Given the description of an element on the screen output the (x, y) to click on. 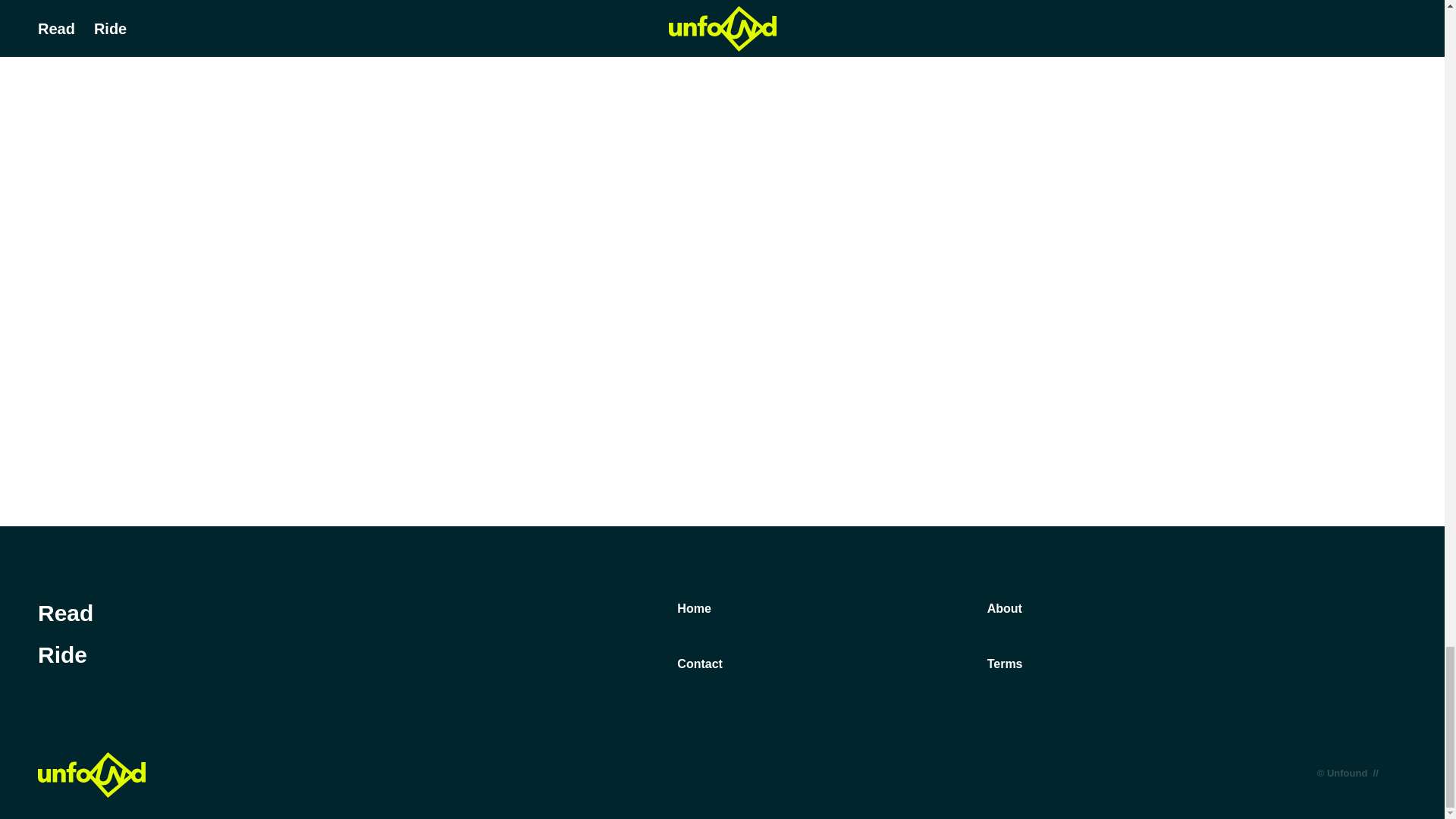
Terms (1005, 663)
Read (65, 612)
Unfound on Instagram (1353, 609)
About (1004, 608)
Contact (699, 663)
Base Media (1396, 771)
Unfound on Instagram (1353, 609)
Ride (62, 654)
Unfound on YouTube (1396, 609)
Unfound (91, 774)
Home (693, 608)
Unfound (91, 774)
